Given the description of an element on the screen output the (x, y) to click on. 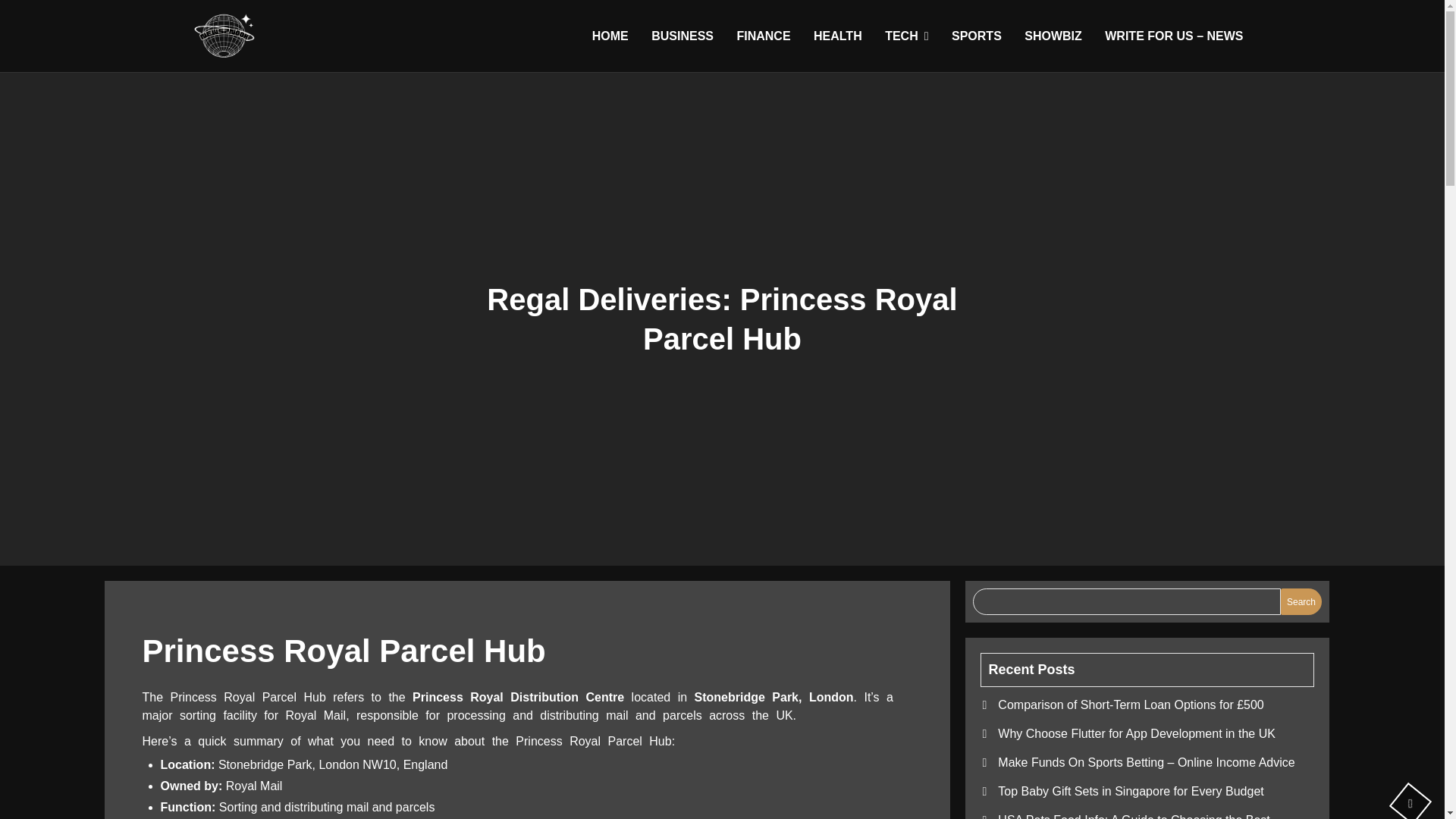
Newsznook (267, 80)
HEALTH (837, 36)
SHOWBIZ (1053, 36)
Why Choose Flutter for App Development in the UK (1136, 733)
BUSINESS (682, 36)
HOME (610, 36)
FINANCE (762, 36)
Top Baby Gift Sets in Singapore for Every Budget (1130, 790)
TECH (906, 36)
